Given the description of an element on the screen output the (x, y) to click on. 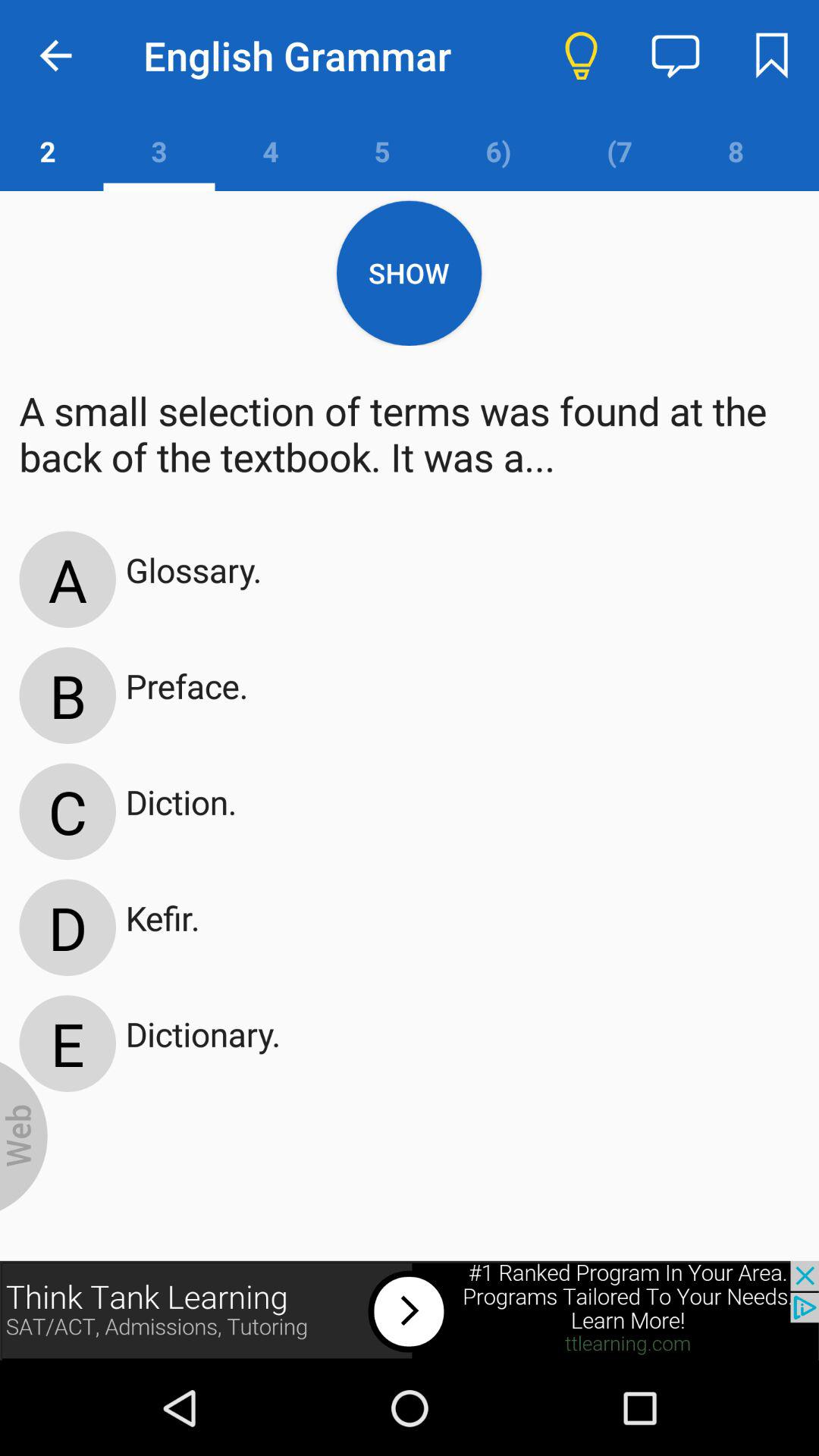
selected web option (23, 1135)
